Given the description of an element on the screen output the (x, y) to click on. 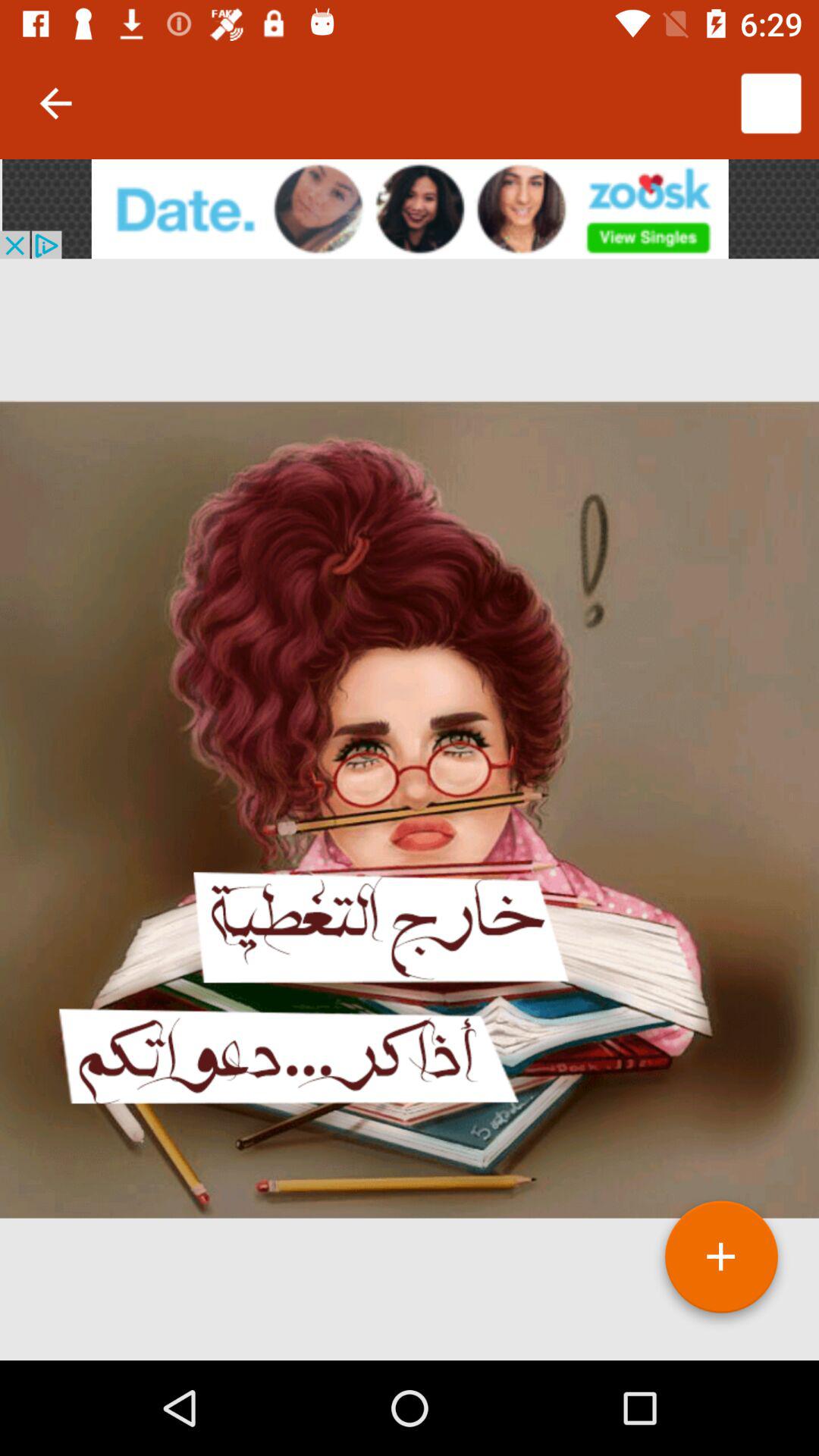
add photo icon (721, 1262)
